Given the description of an element on the screen output the (x, y) to click on. 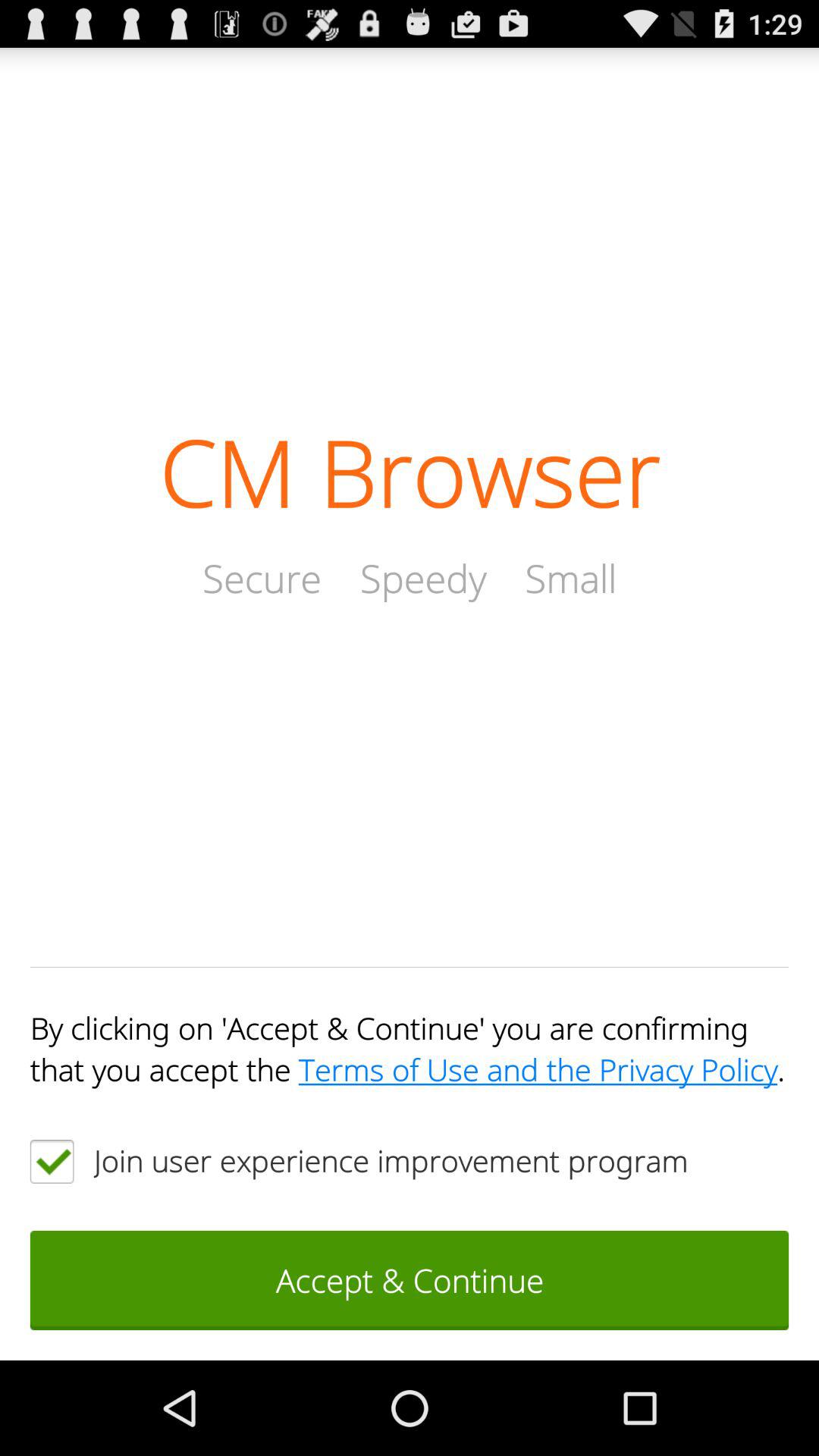
click the item below by clicking on (51, 1161)
